Given the description of an element on the screen output the (x, y) to click on. 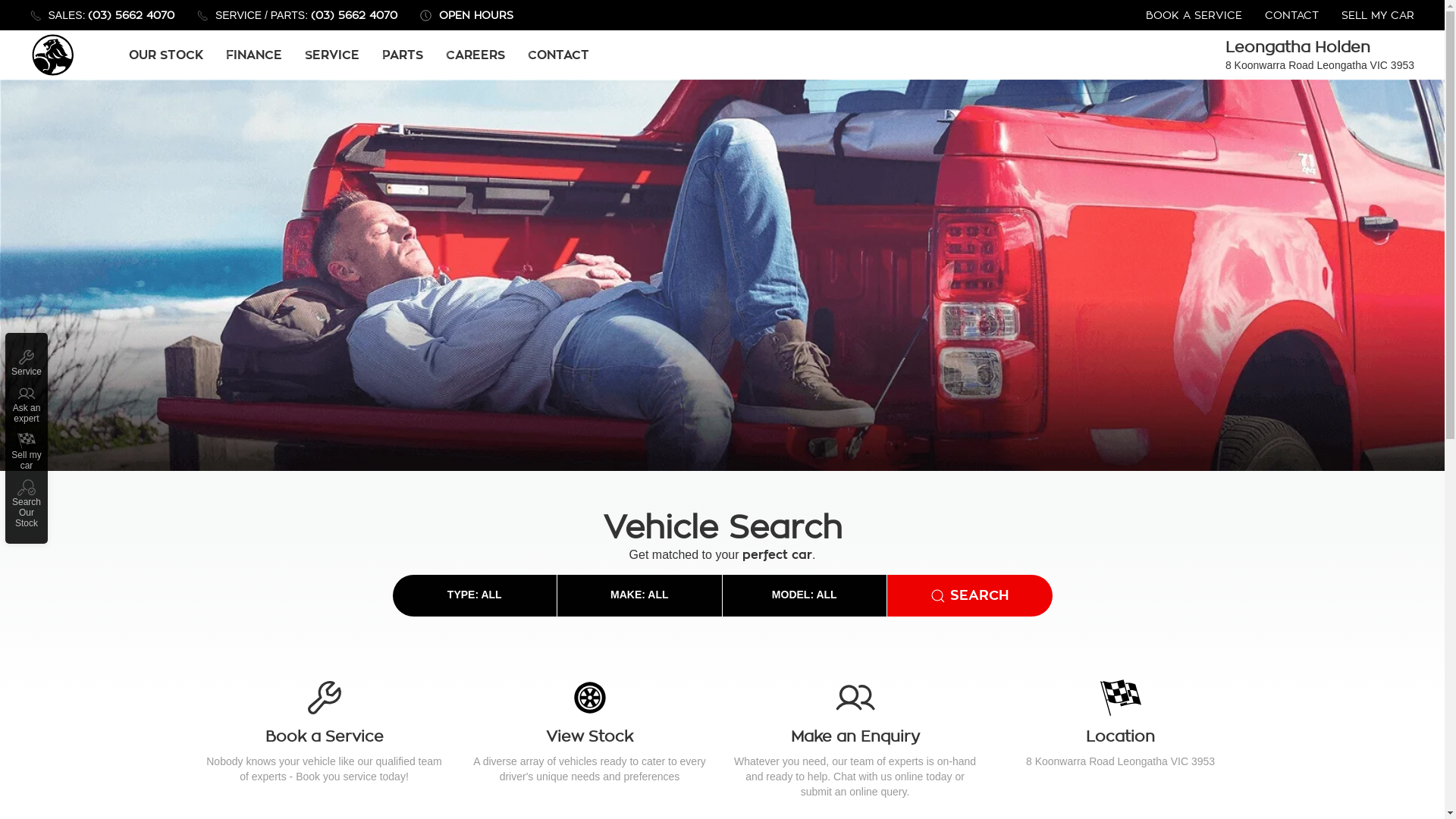
OPEN HOURS Element type: text (466, 14)
FINANCE
FINANCE Element type: text (253, 54)
CONTACT
CONTACT Element type: text (558, 54)
SERVICE / PARTS: (03) 5662 4070 Element type: text (297, 15)
Ask an expert Element type: text (26, 403)
CAREERS
CAREERS Element type: text (475, 54)
PARTS
PARTS Element type: text (402, 54)
Leongatha Holden
8 Koonwarra Road Leongatha VIC 3953 Element type: text (1319, 54)
MAKE: ALL Element type: text (639, 637)
Sell my car Element type: text (26, 450)
OUR STOCK
OUR STOCK Element type: text (165, 54)
BOOK A SERVICE Element type: text (1193, 15)
CONTACT Element type: text (1291, 15)
SELL MY CAR Element type: text (1377, 15)
SEARCH Element type: text (969, 637)
SALES: (03) 5662 4070 Element type: text (102, 15)
MODEL: ALL Element type: text (804, 637)
Search Our Stock Element type: text (26, 503)
Service Element type: text (26, 362)
TYPE: ALL Element type: text (475, 637)
SERVICE
SERVICE Element type: text (331, 54)
